Given the description of an element on the screen output the (x, y) to click on. 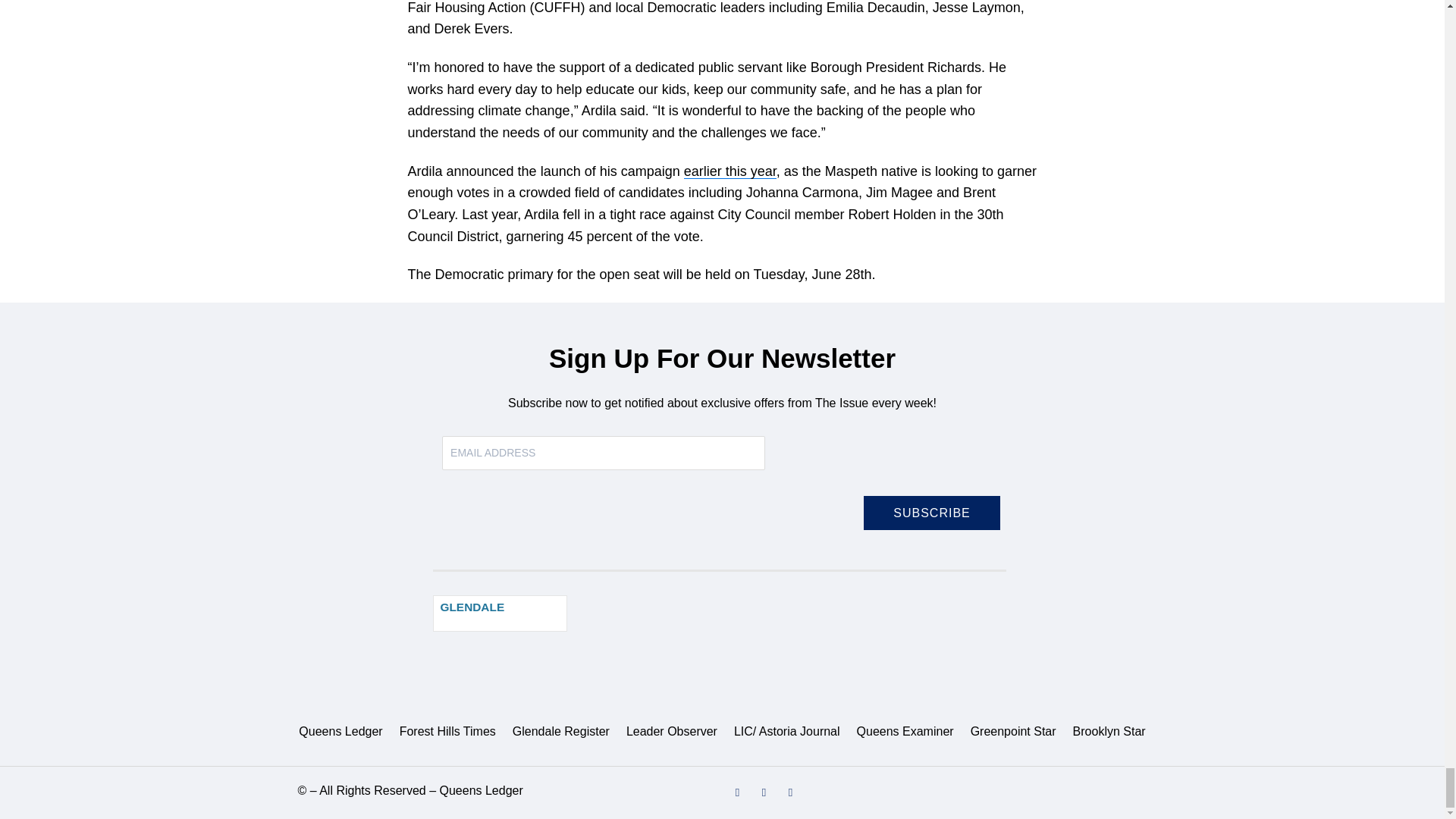
GLENDALE (500, 613)
GLENDALE (471, 606)
Subscribe (931, 512)
